Given the description of an element on the screen output the (x, y) to click on. 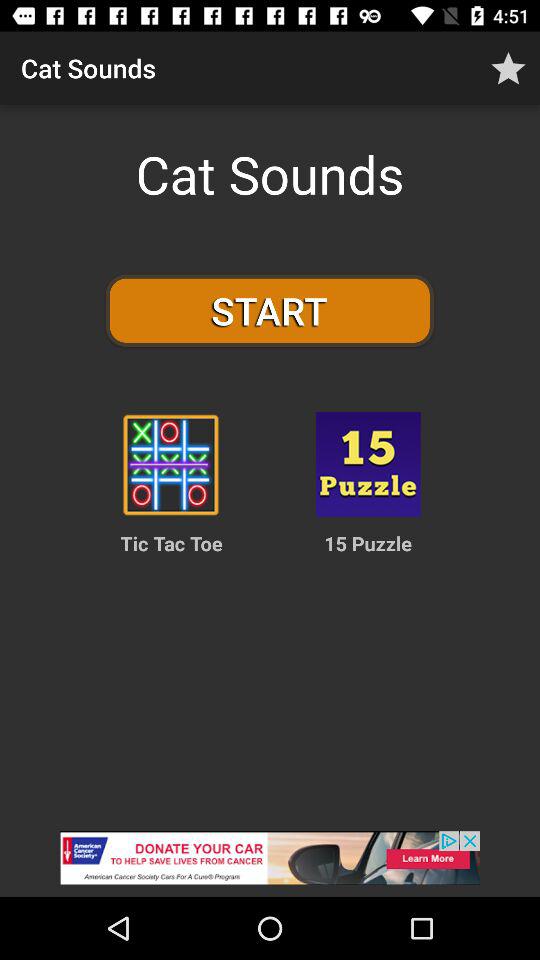
toggle to choose game (367, 464)
